Given the description of an element on the screen output the (x, y) to click on. 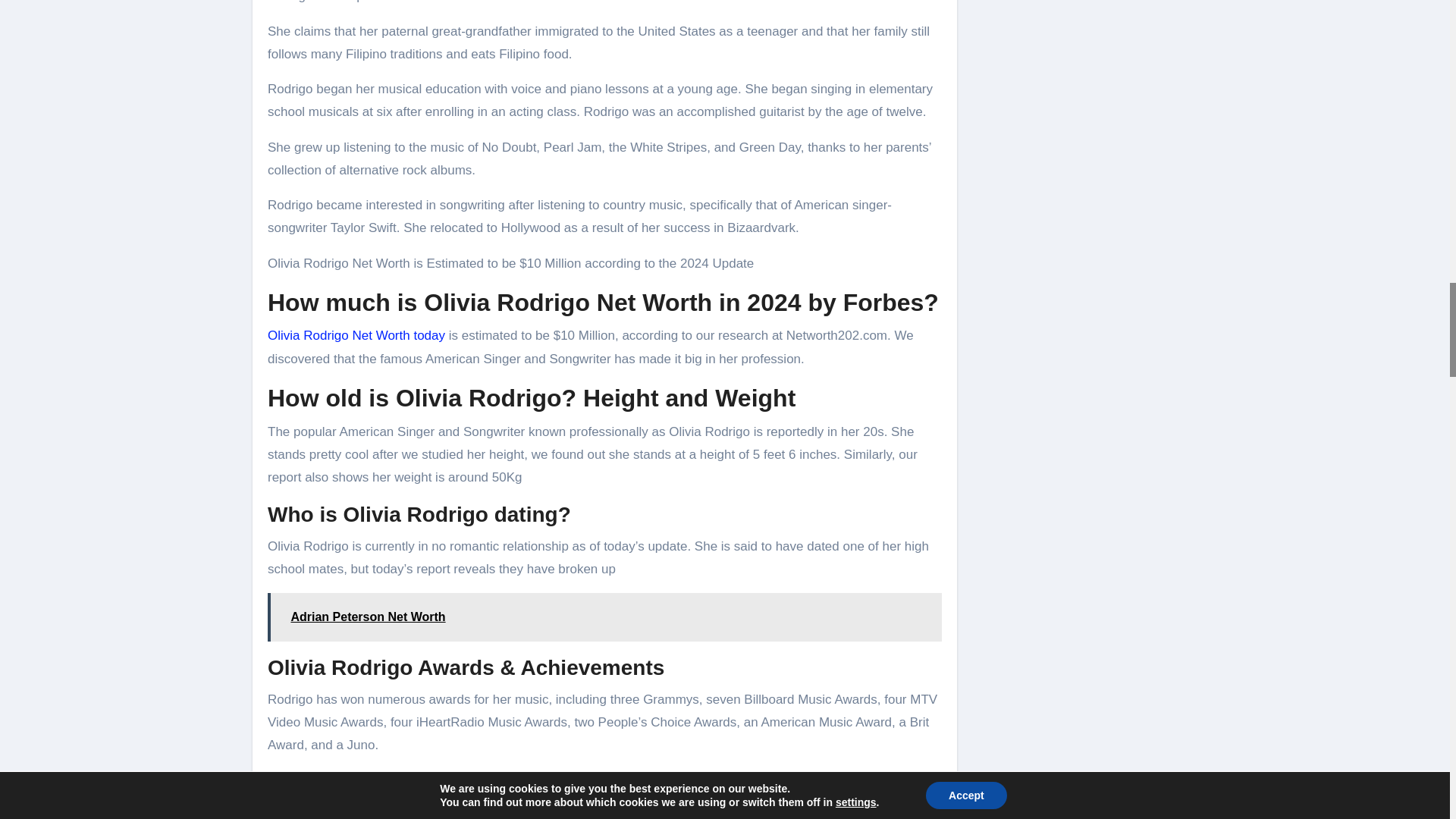
Olivia Rodrigo Net Worth today (356, 335)
  Adrian Peterson Net Worth (604, 616)
